Given the description of an element on the screen output the (x, y) to click on. 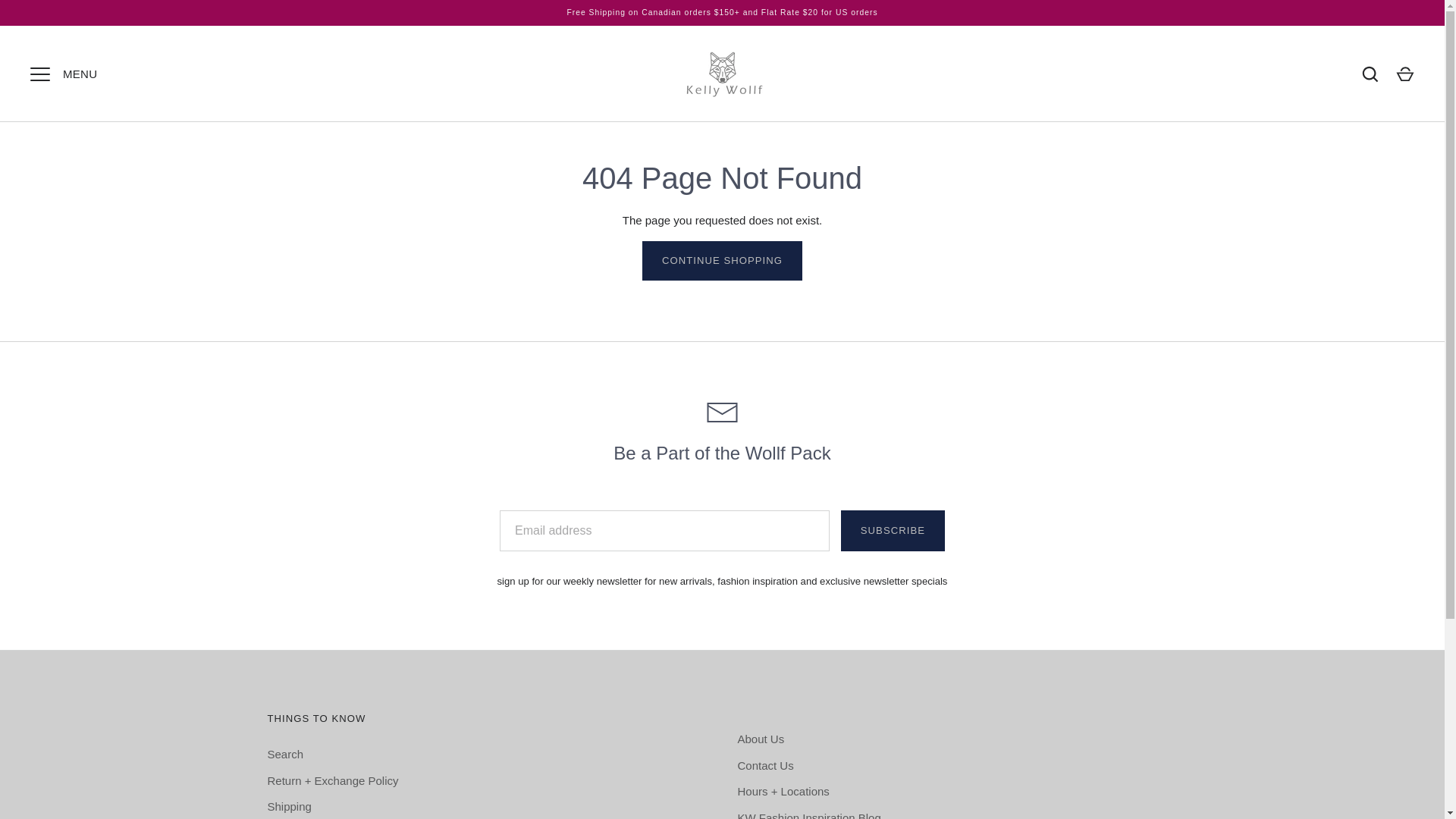
MENU (39, 73)
Email (722, 412)
